Given the description of an element on the screen output the (x, y) to click on. 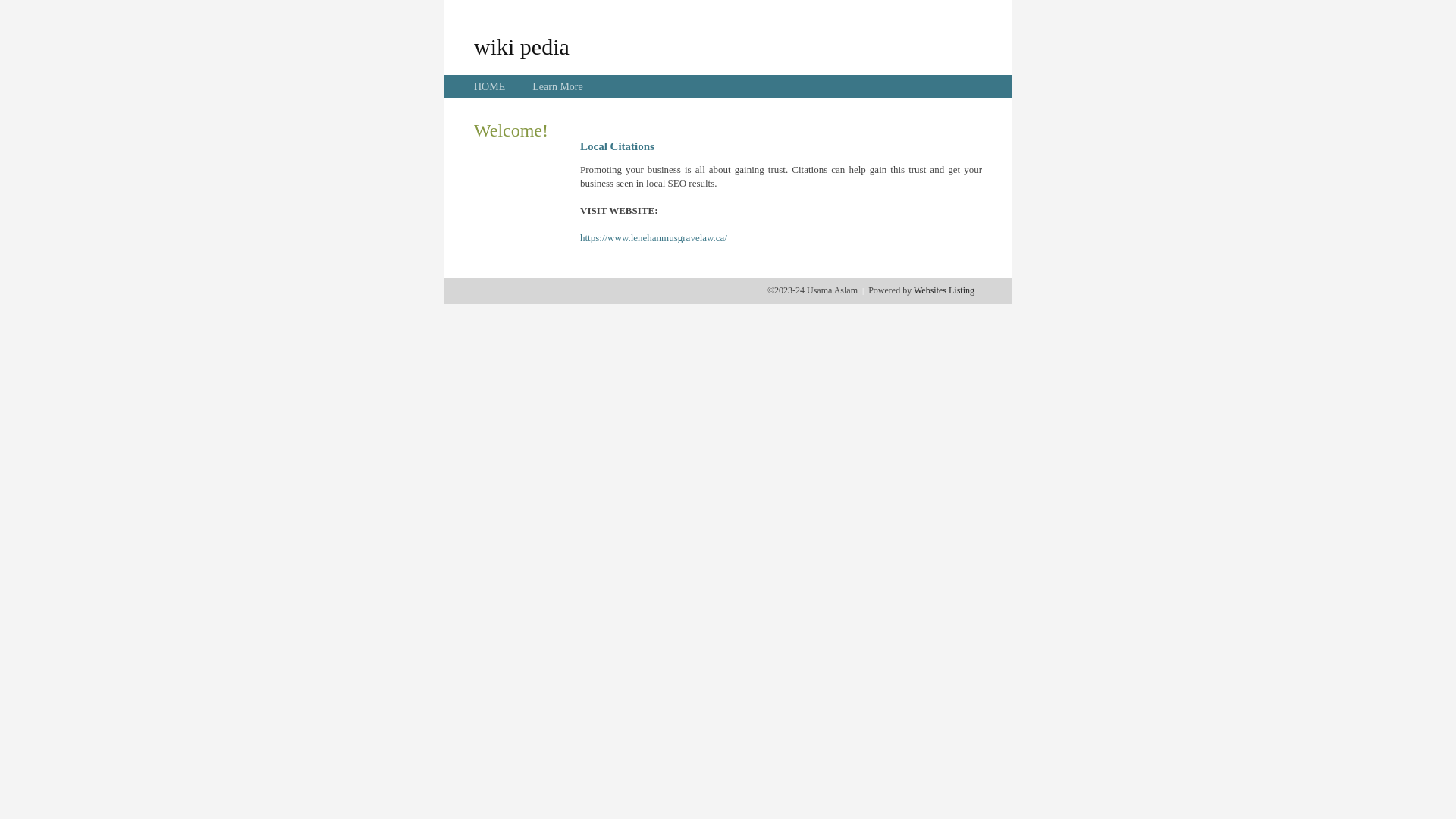
wiki pedia Element type: text (521, 46)
https://www.lenehanmusgravelaw.ca/ Element type: text (653, 237)
HOME Element type: text (489, 86)
Learn More Element type: text (557, 86)
Websites Listing Element type: text (943, 290)
